Given the description of an element on the screen output the (x, y) to click on. 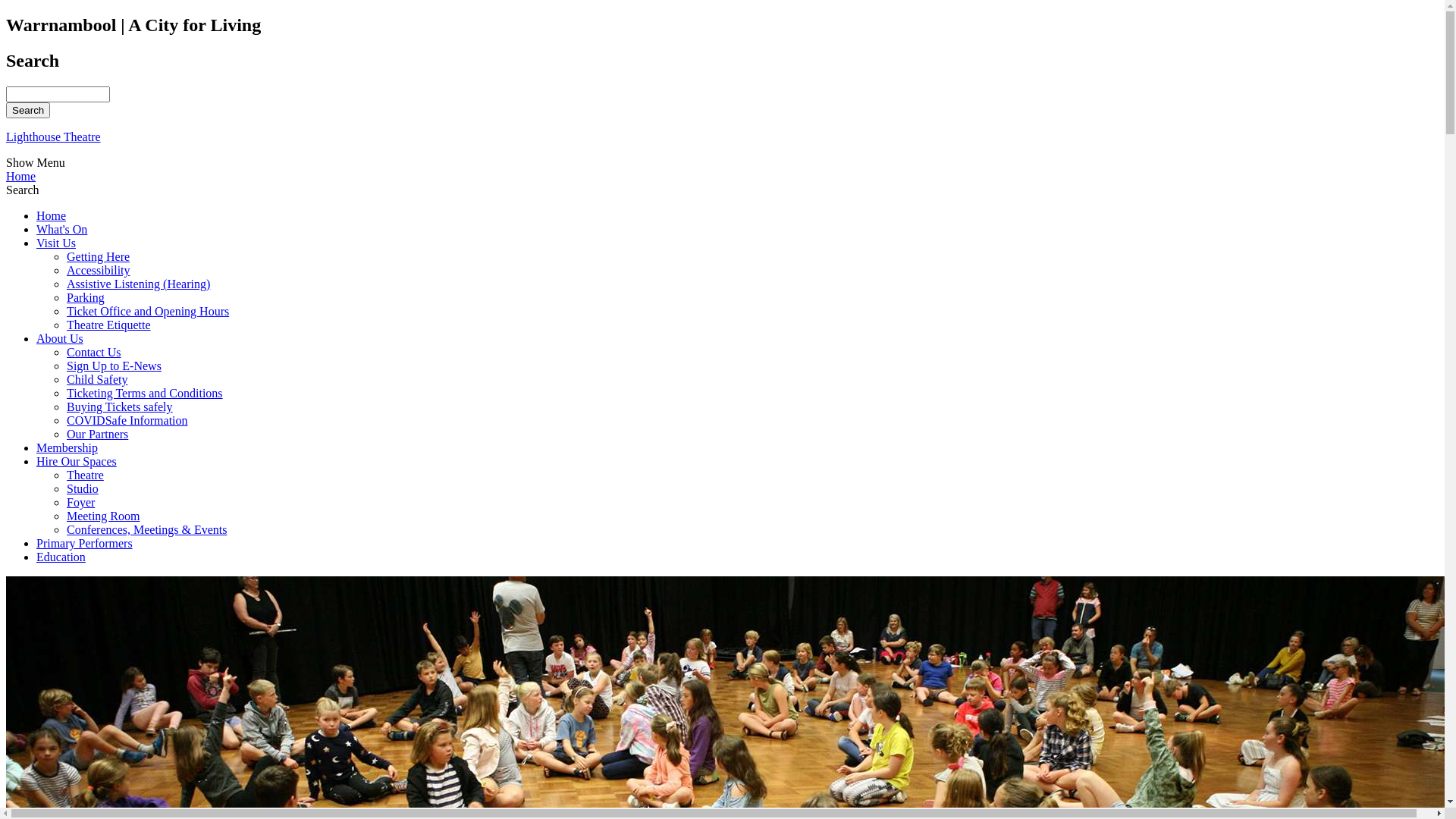
Primary Performers Element type: text (84, 542)
Studio Element type: text (82, 488)
Membership Element type: text (66, 447)
Assistive Listening (Hearing) Element type: text (138, 283)
Education Element type: text (60, 556)
Contact Us Element type: text (93, 351)
Hire Our Spaces Element type: text (76, 461)
Getting Here Element type: text (97, 256)
Enter the terms you wish to search for. Element type: hover (57, 94)
Conferences, Meetings & Events Element type: text (146, 529)
Foyer Element type: text (80, 501)
Sign Up to E-News Element type: text (113, 365)
Search Element type: text (28, 110)
Theatre Element type: text (84, 474)
About Us Element type: text (59, 338)
Parking Element type: text (85, 297)
Ticket Office and Opening Hours Element type: text (147, 310)
Accessibility Element type: text (98, 269)
Home Element type: text (722, 176)
Meeting Room Element type: text (102, 515)
Visit Us Element type: text (55, 242)
Child Safety Element type: text (96, 379)
Our Partners Element type: text (97, 433)
Ticketing Terms and Conditions Element type: text (144, 392)
Buying Tickets safely Element type: text (119, 406)
COVIDSafe Information Element type: text (127, 420)
Home Element type: text (50, 215)
Lighthouse Theatre Element type: text (722, 137)
Theatre Etiquette Element type: text (108, 324)
What's On Element type: text (61, 228)
